Given the description of an element on the screen output the (x, y) to click on. 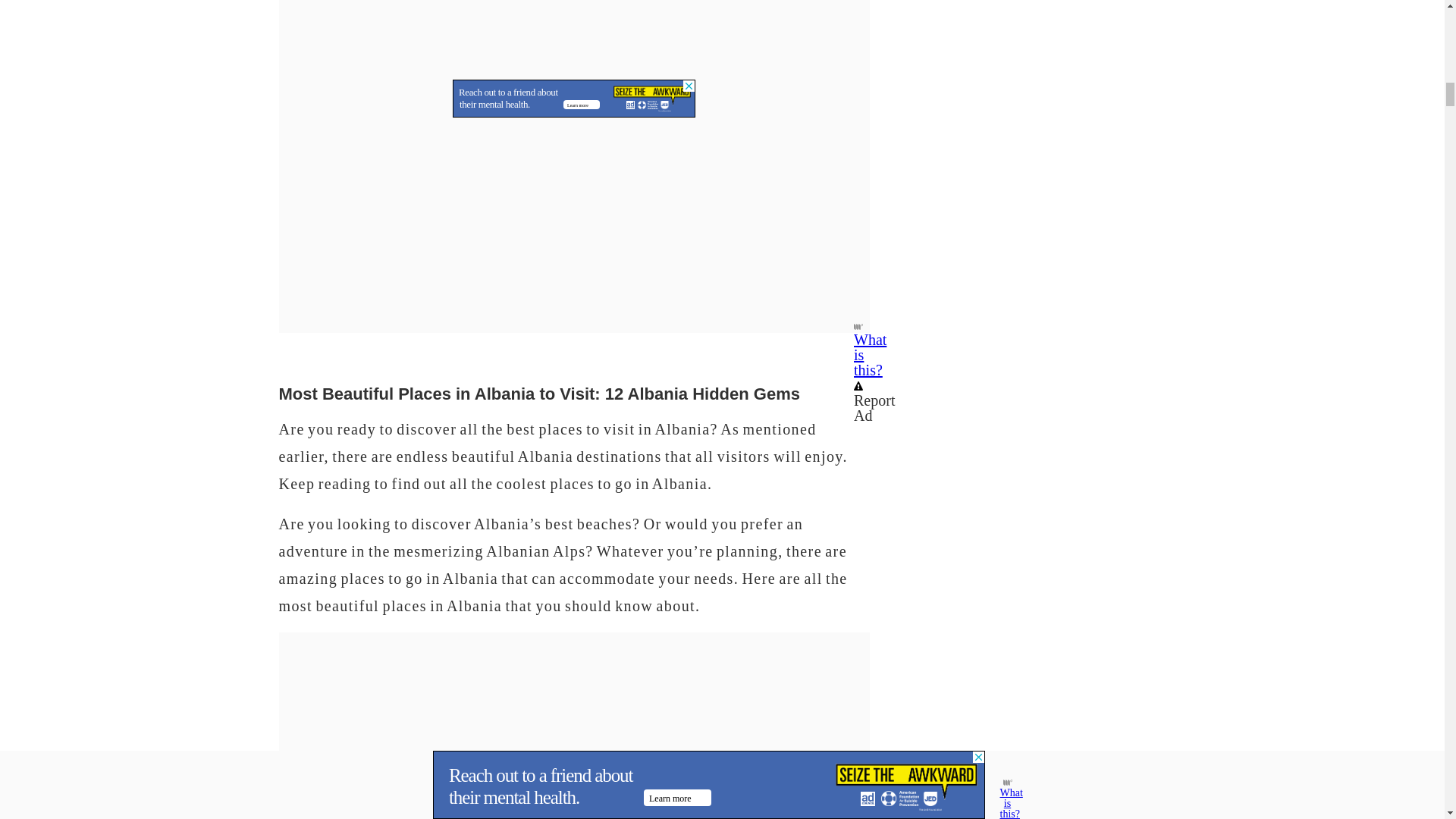
3rd party ad content (573, 18)
